Given the description of an element on the screen output the (x, y) to click on. 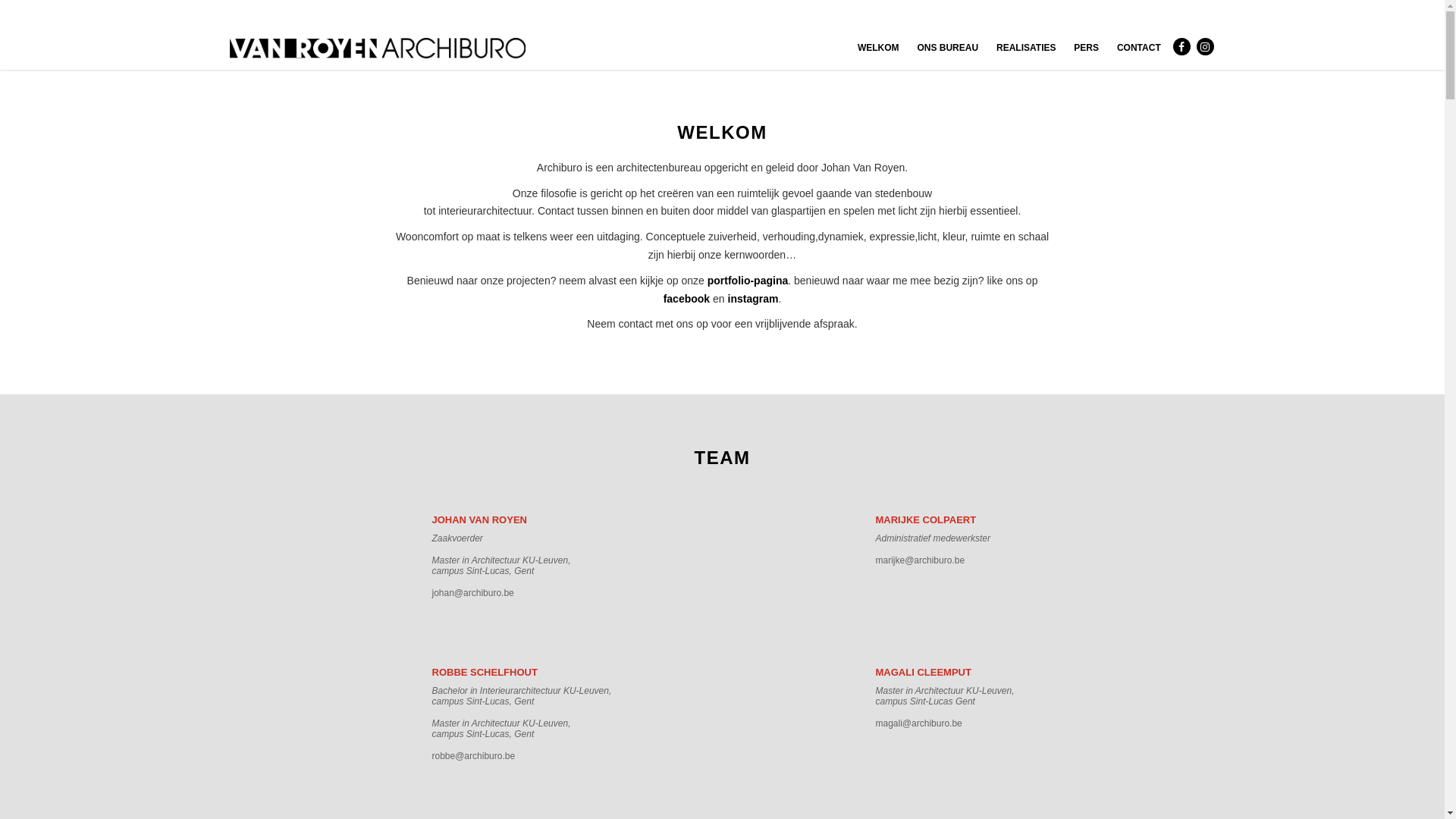
ONS BUREAU Element type: text (947, 47)
instagram Element type: text (753, 298)
WELKOM Element type: text (878, 47)
PERS Element type: text (1086, 47)
portfolio-pagina Element type: text (747, 280)
facebook Element type: text (686, 298)
CONTACT Element type: text (1138, 47)
REALISATIES Element type: text (1025, 47)
